Given the description of an element on the screen output the (x, y) to click on. 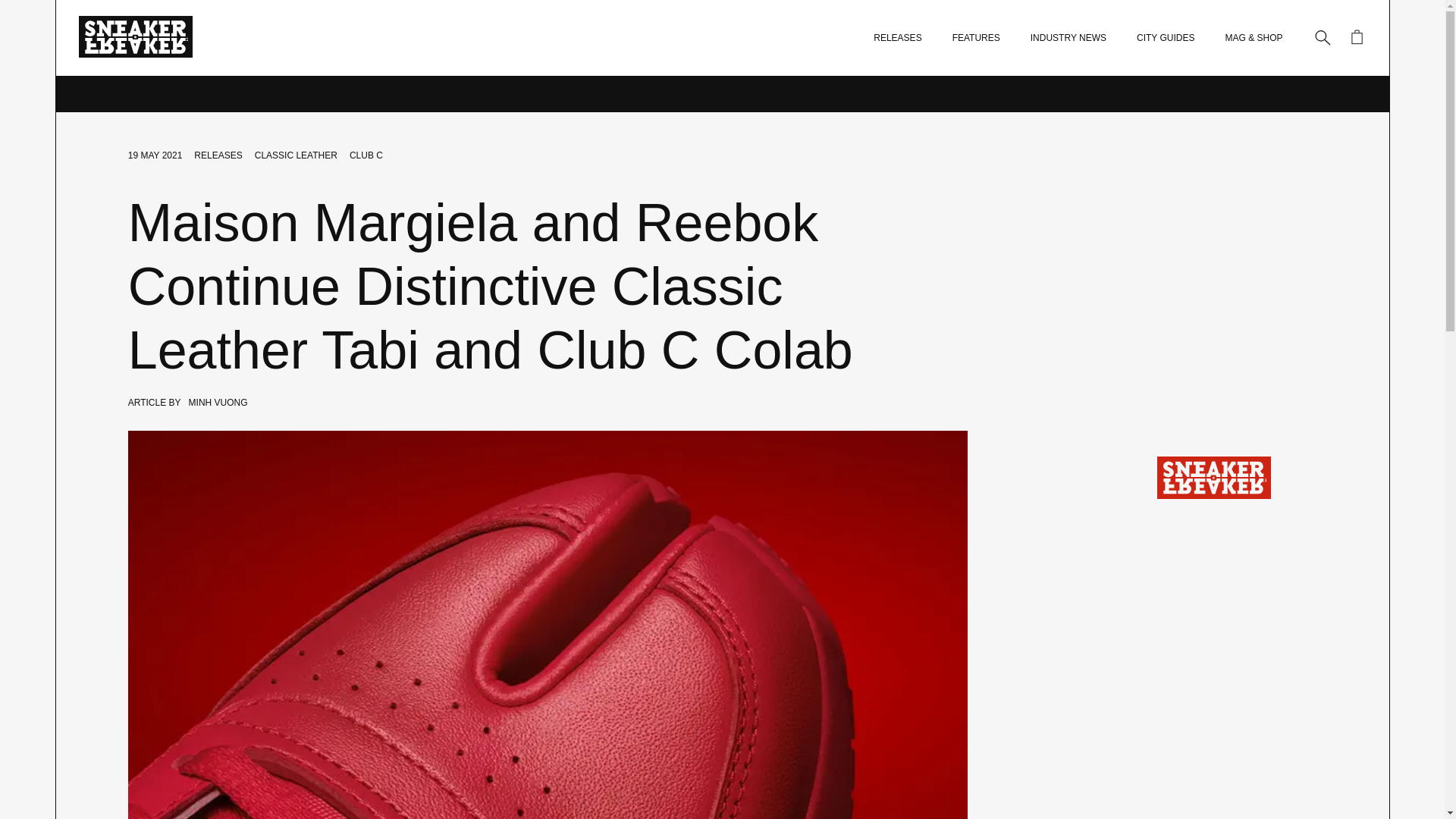
CLUB C (365, 154)
INDUSTRY NEWS (1068, 37)
FEATURES (976, 37)
RELEASES (217, 154)
RELEASES (897, 37)
MINH VUONG (218, 402)
CLASSIC LEATHER (295, 154)
CITY GUIDES (1165, 37)
